Given the description of an element on the screen output the (x, y) to click on. 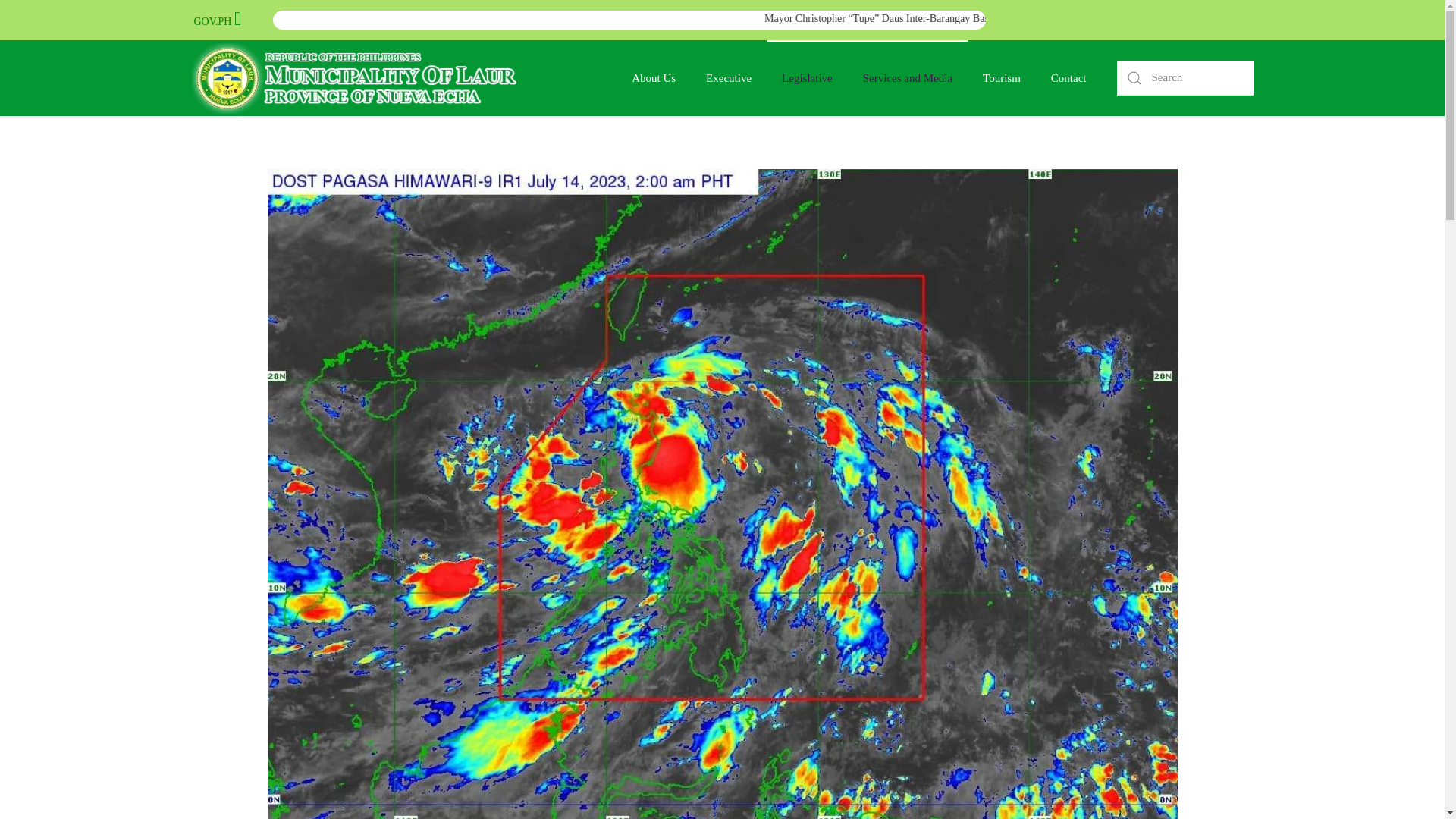
Executive (728, 78)
GOV.PH (212, 21)
About Us (652, 78)
